Given the description of an element on the screen output the (x, y) to click on. 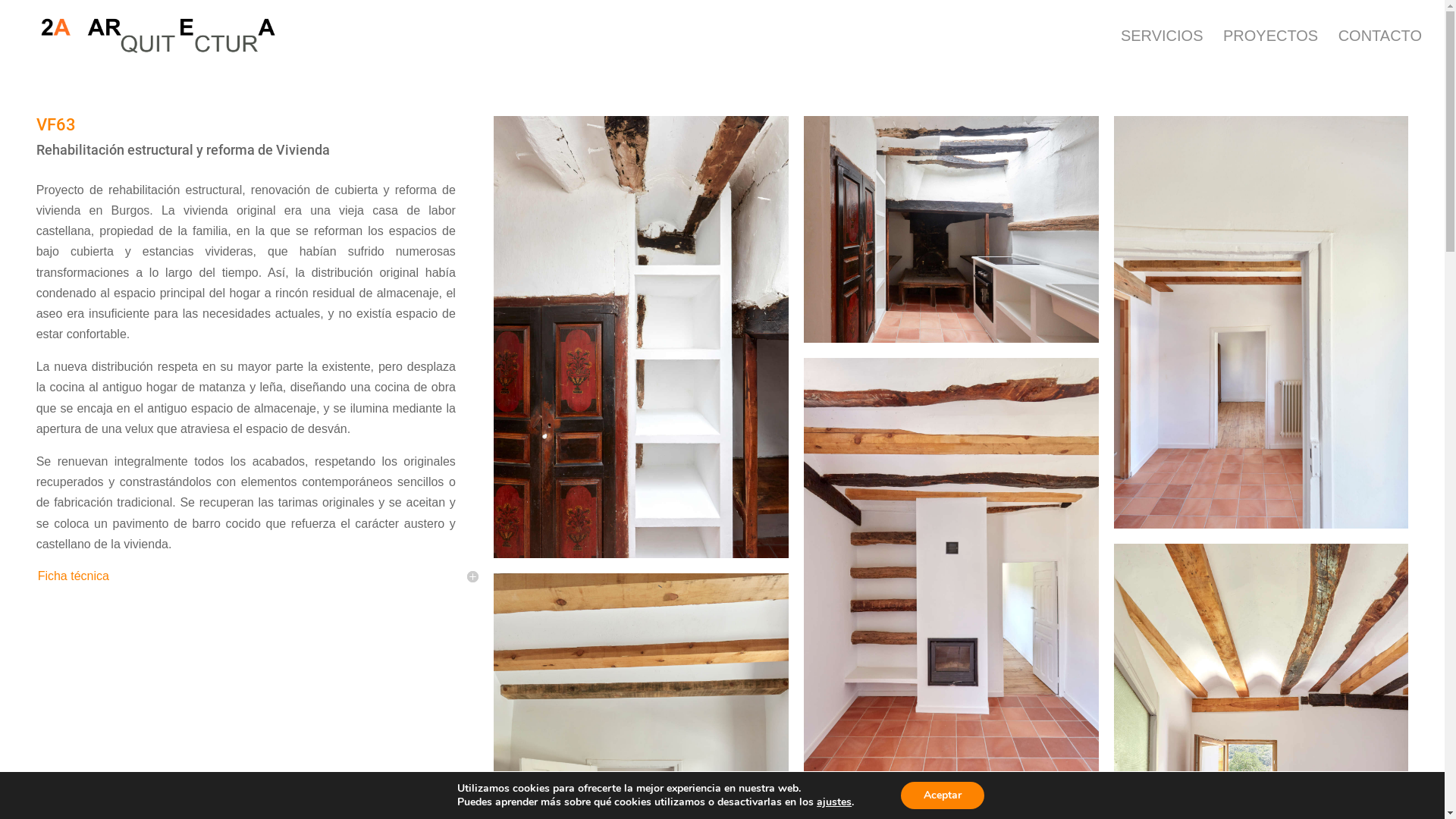
PROYECTOS Element type: text (1270, 50)
CONTACTO Element type: text (1379, 50)
Aceptar Element type: text (942, 795)
SERVICIOS Element type: text (1161, 50)
